Given the description of an element on the screen output the (x, y) to click on. 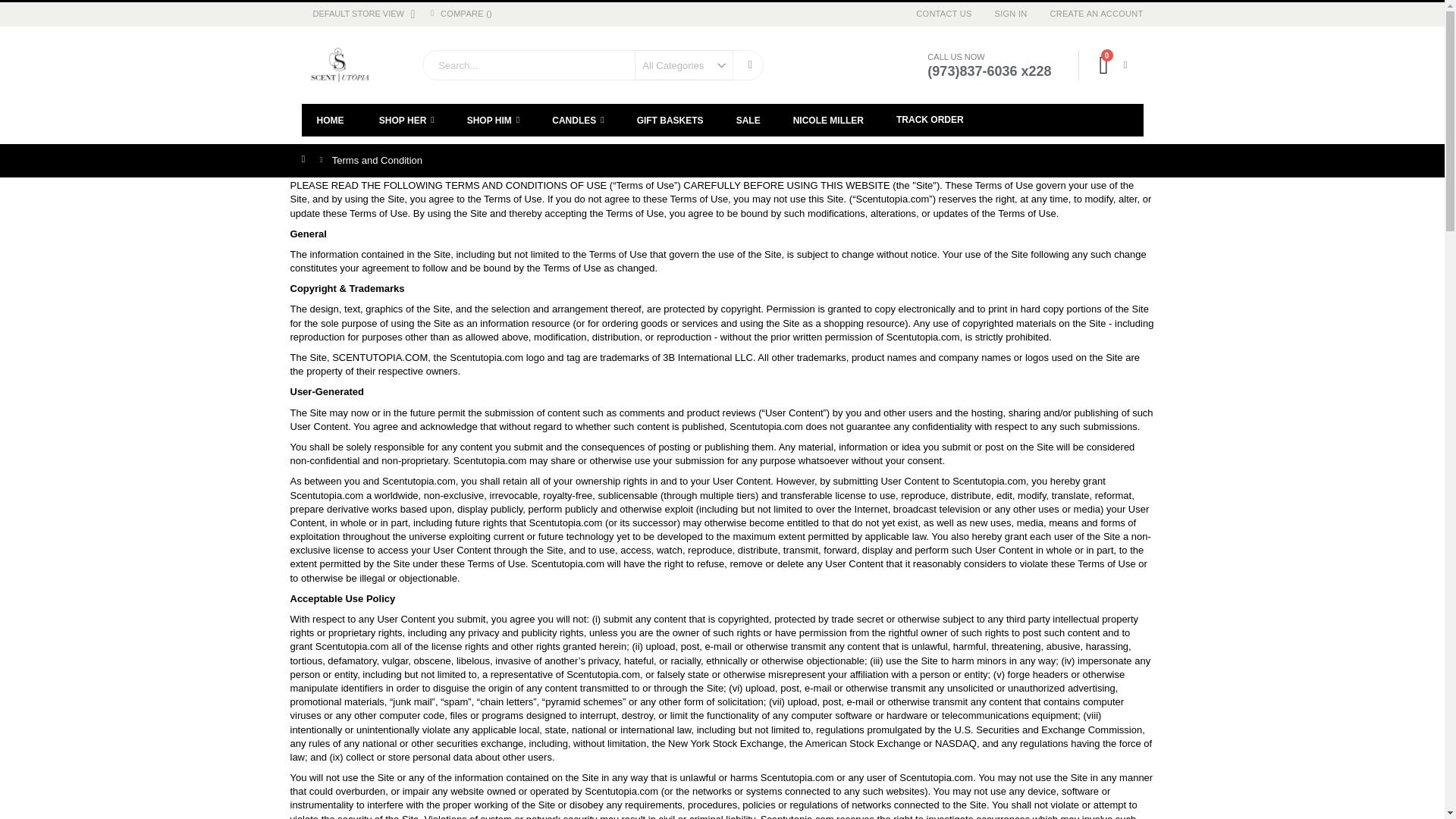
Shop Her (406, 120)
SIGN IN (1011, 13)
HOME (330, 120)
CREATE AN ACCOUNT (1090, 13)
Compare Products (464, 13)
SHOP HER (406, 120)
CONTACT US (1112, 64)
